Given the description of an element on the screen output the (x, y) to click on. 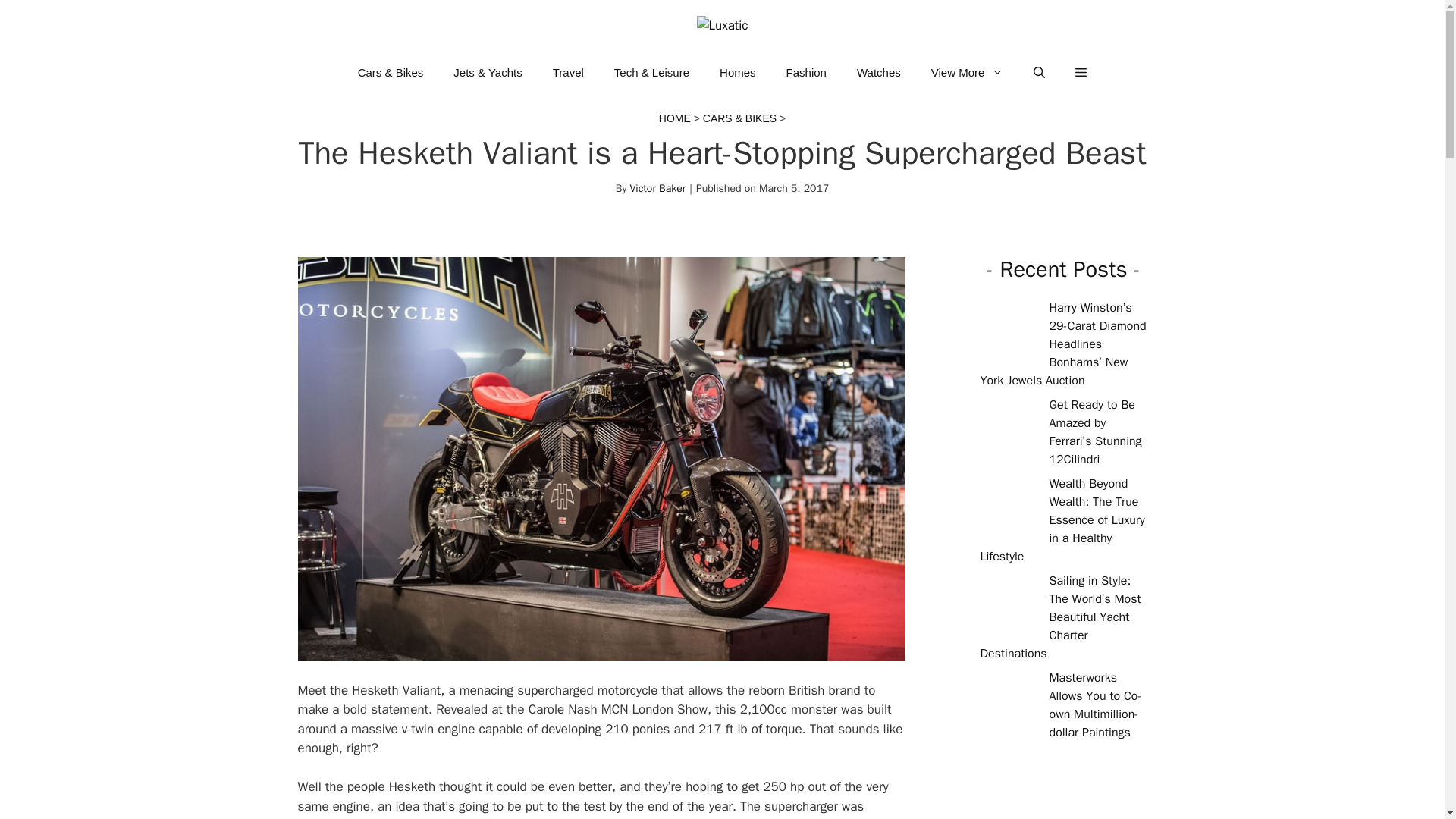
Travel (567, 72)
View More (967, 72)
Watches (878, 72)
Victor Baker (656, 187)
Homes (737, 72)
HOME (674, 118)
Fashion (806, 72)
